Given the description of an element on the screen output the (x, y) to click on. 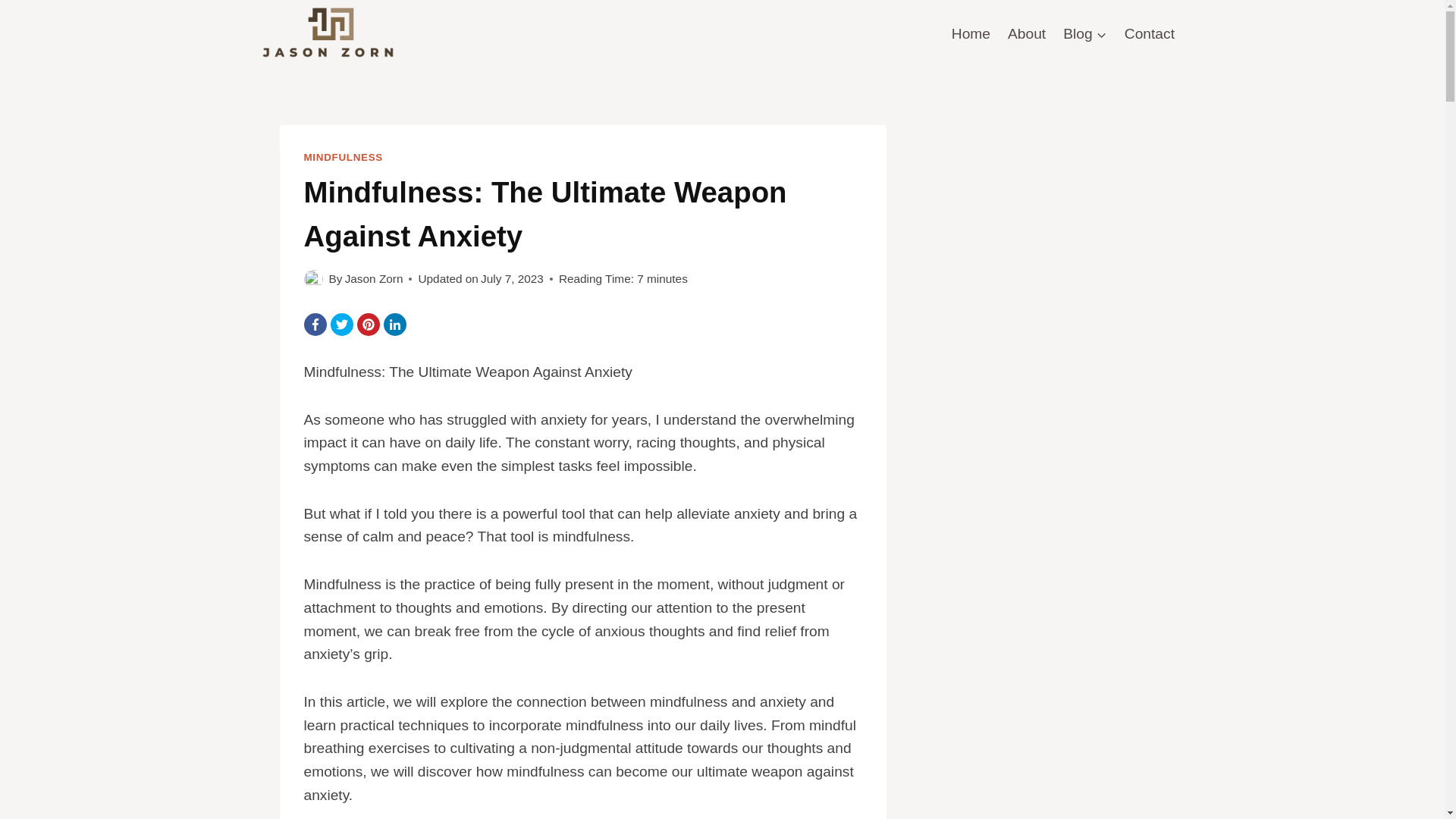
MINDFULNESS (341, 156)
Contact (1148, 33)
Blog (1085, 33)
About (1026, 33)
Home (970, 33)
